Given the description of an element on the screen output the (x, y) to click on. 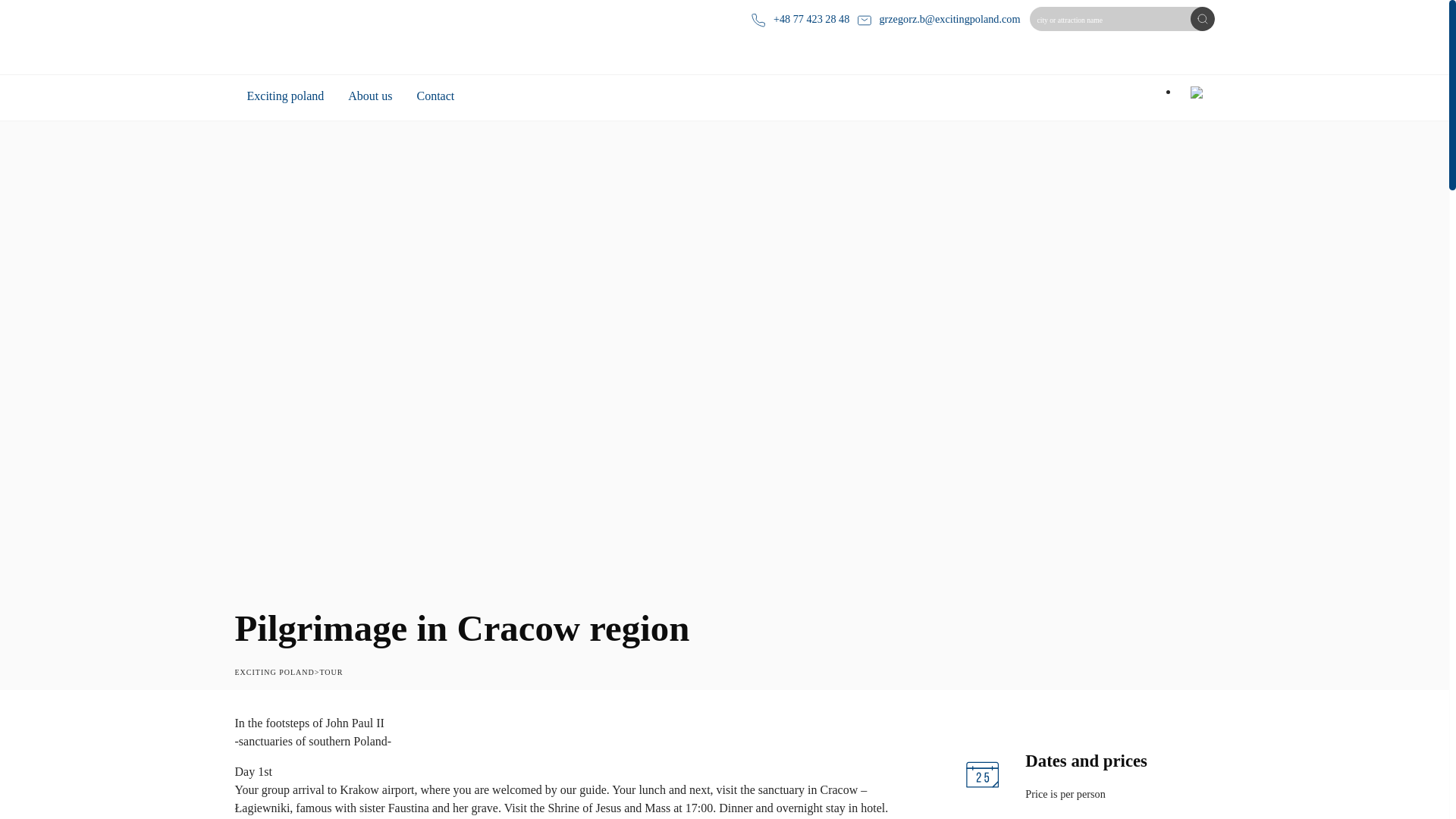
Go to exciting poland. (274, 672)
About us (370, 97)
Exciting poland (285, 97)
Search (1202, 18)
EXCITING POLAND (274, 672)
Search (1202, 18)
Contact (435, 97)
TOUR (330, 672)
Search (1202, 18)
Go to Tour. (330, 672)
